Given the description of an element on the screen output the (x, y) to click on. 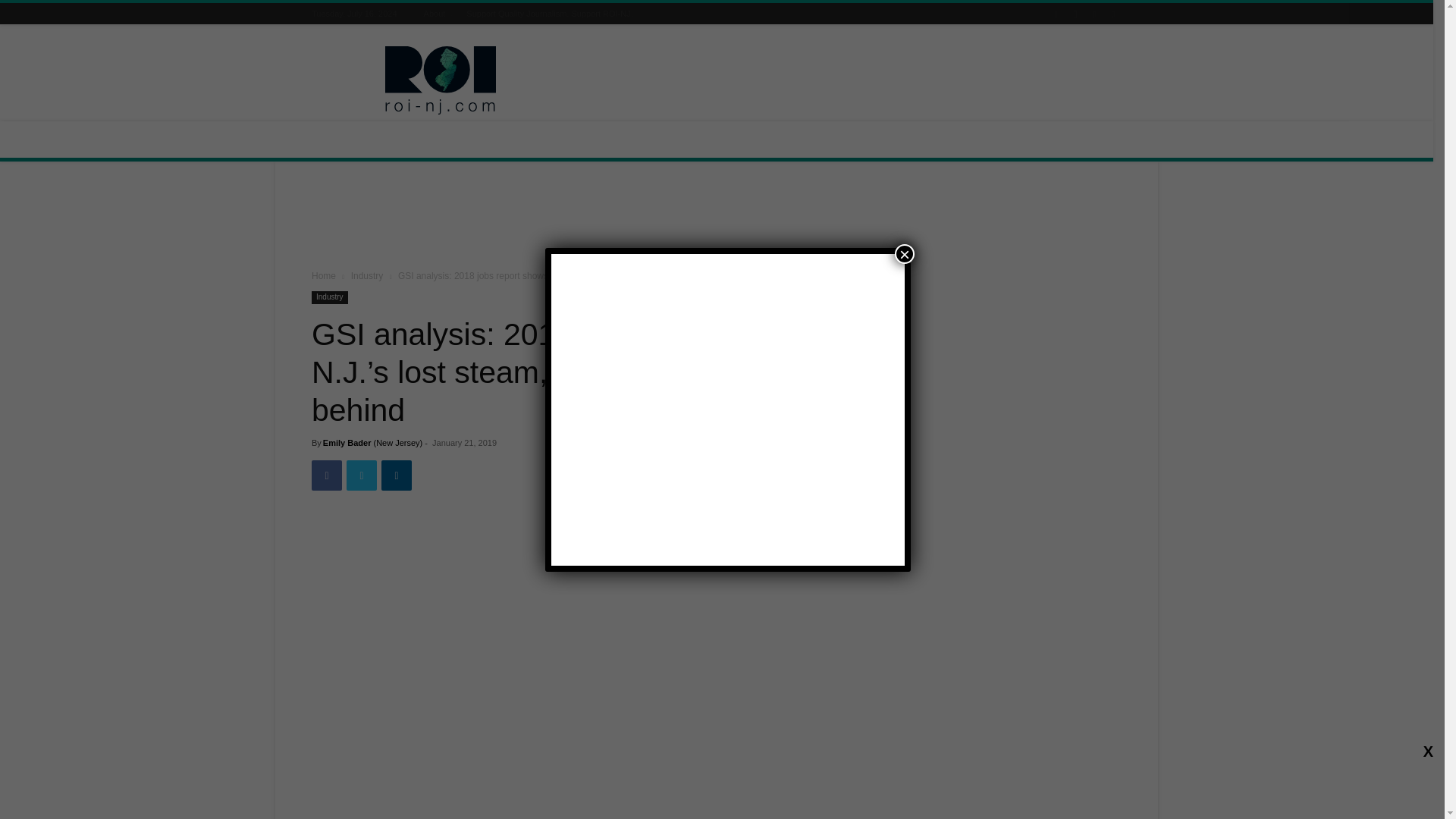
Facebook (326, 475)
3rd party ad content (716, 218)
Instagram (1075, 14)
Twitter (1113, 14)
Facebook (1056, 14)
Linkedin (1094, 14)
3rd party ad content (845, 79)
Twitter (361, 475)
View all posts in Industry (367, 276)
Linkedin (396, 475)
